Given the description of an element on the screen output the (x, y) to click on. 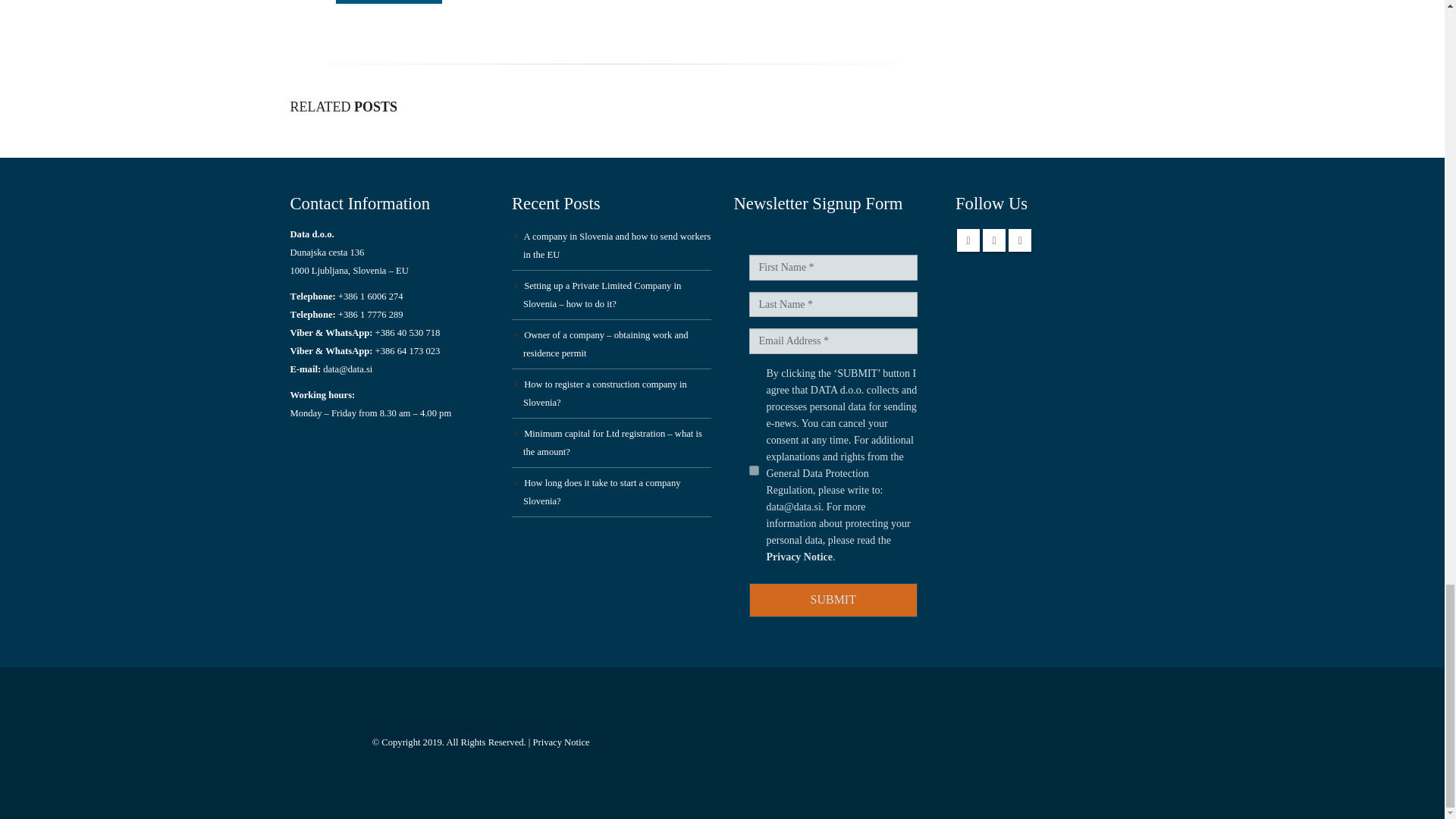
Twitter (994, 240)
SUBMIT (833, 600)
Privacy Notice (798, 556)
Post Comment (387, 2)
Facebook (967, 240)
